Given the description of an element on the screen output the (x, y) to click on. 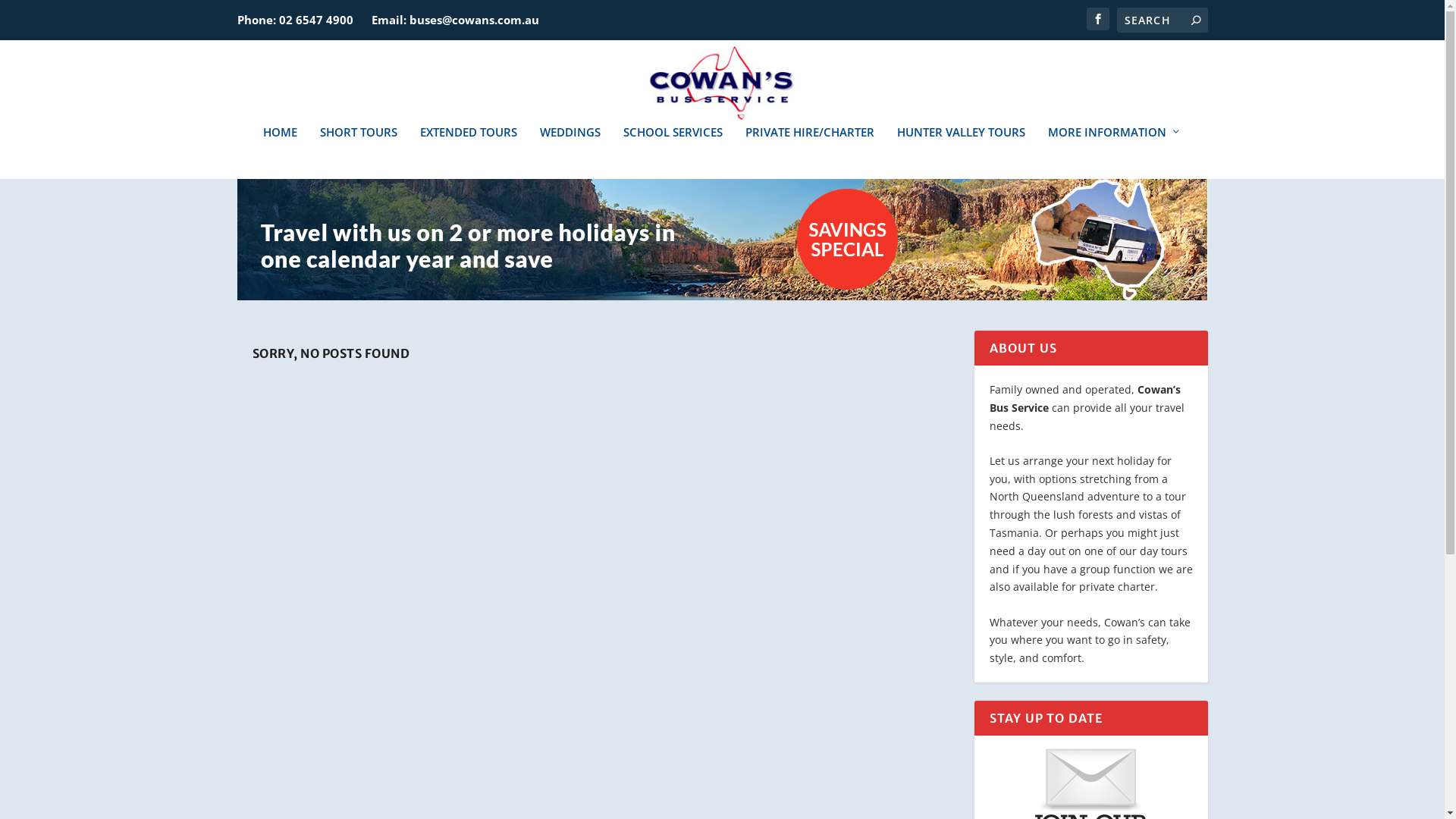
Phone: 02 6547 4900 Element type: text (294, 19)
SHORT TOURS Element type: text (358, 151)
EXTENDED TOURS Element type: text (468, 151)
WEDDINGS Element type: text (569, 151)
MORE INFORMATION Element type: text (1114, 151)
HUNTER VALLEY TOURS Element type: text (961, 151)
Email: buses@cowans.com.au Element type: text (455, 19)
HOME Element type: text (280, 151)
SCHOOL SERVICES Element type: text (672, 151)
Search for: Element type: hover (1161, 19)
PRIVATE HIRE/CHARTER Element type: text (809, 151)
